Given the description of an element on the screen output the (x, y) to click on. 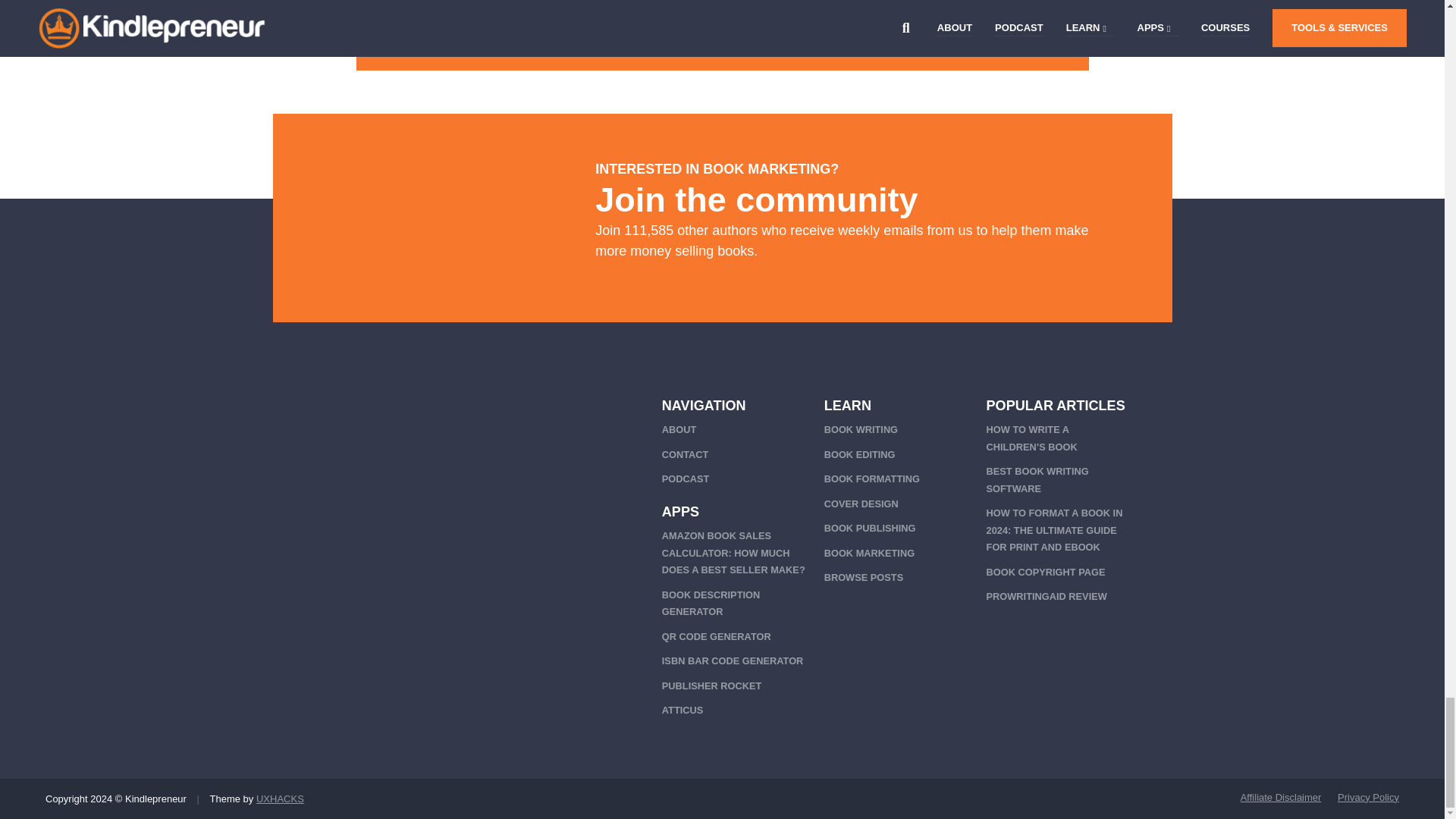
Submit Comment (722, 49)
